Given the description of an element on the screen output the (x, y) to click on. 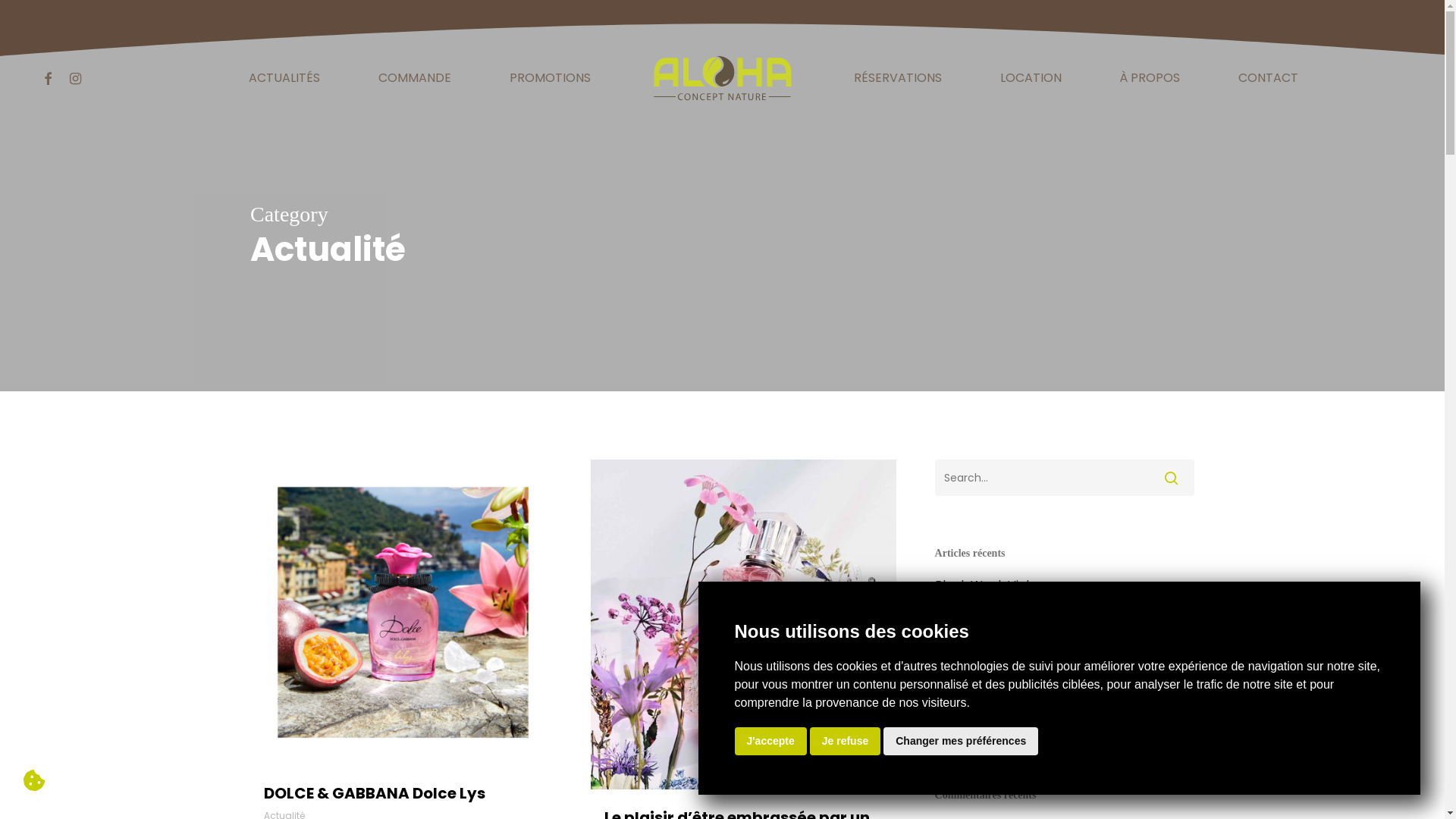
INSTAGRAM Element type: text (74, 78)
Black Week Vichy Element type: text (1064, 585)
Cerave propose -20% sur ces produits en octobre! Element type: text (1064, 638)
CONTACT Element type: text (1268, 77)
PROMOTIONS Element type: text (549, 77)
J'accepte Element type: text (770, 741)
Je refuse Element type: text (844, 741)
COMMANDE Element type: text (414, 77)
LOCATION Element type: text (1030, 77)
FACEBOOK Element type: text (47, 78)
Search for: Element type: hover (1064, 477)
Alohaween le 28 octobre 2023! Element type: text (1064, 607)
DOLCE & GABBANA Dolce Lys Element type: text (374, 792)
